Given the description of an element on the screen output the (x, y) to click on. 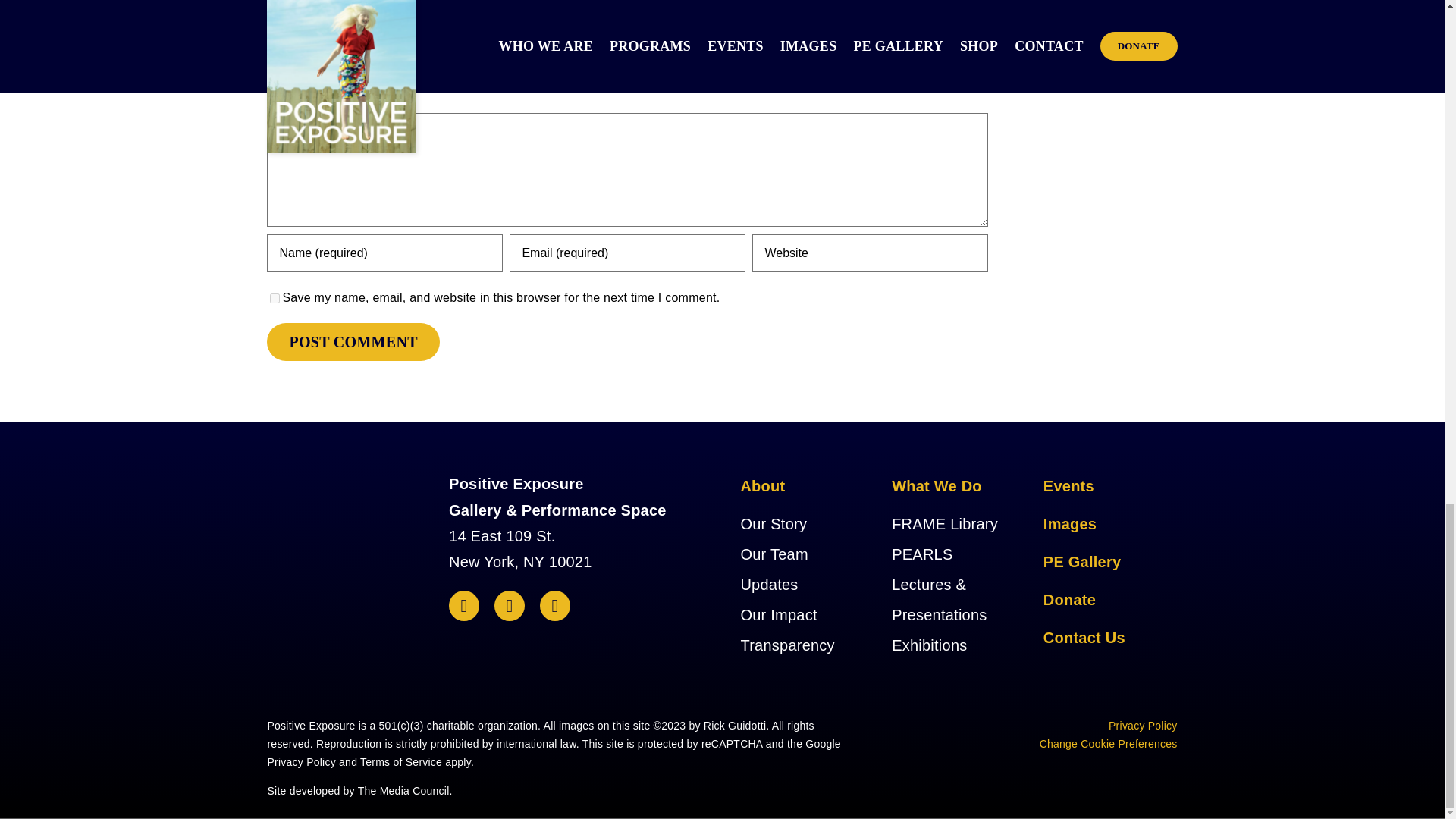
Our Story (772, 523)
Facebook (463, 605)
Post Comment (352, 341)
Post Comment (352, 341)
Updates (768, 584)
Instagram (555, 605)
X (509, 605)
Our Team (773, 554)
yes (274, 298)
